Given the description of an element on the screen output the (x, y) to click on. 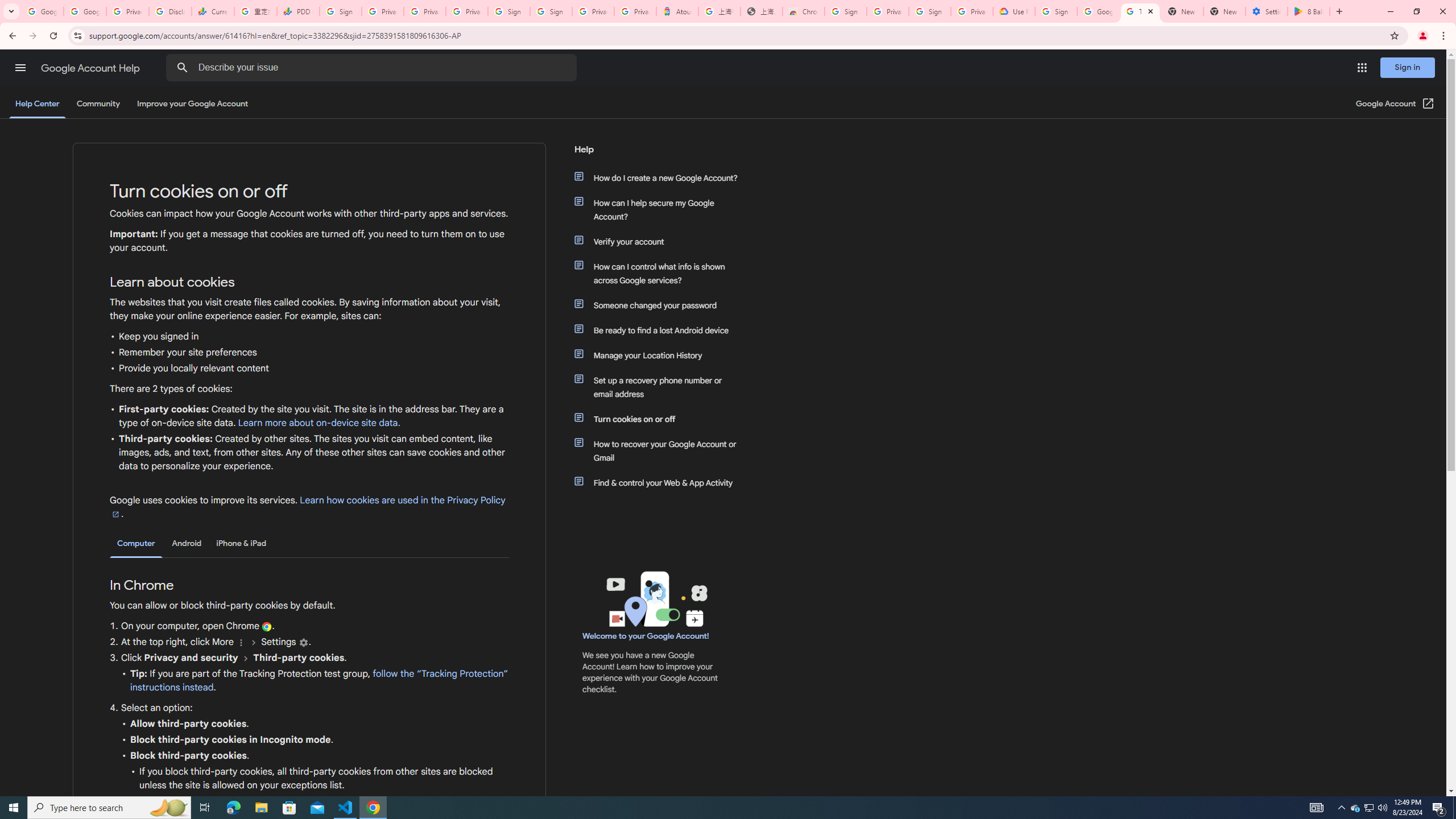
Privacy Checkup (467, 11)
Settings (303, 642)
New Tab (1224, 11)
Turn cookies on or off (661, 419)
